Given the description of an element on the screen output the (x, y) to click on. 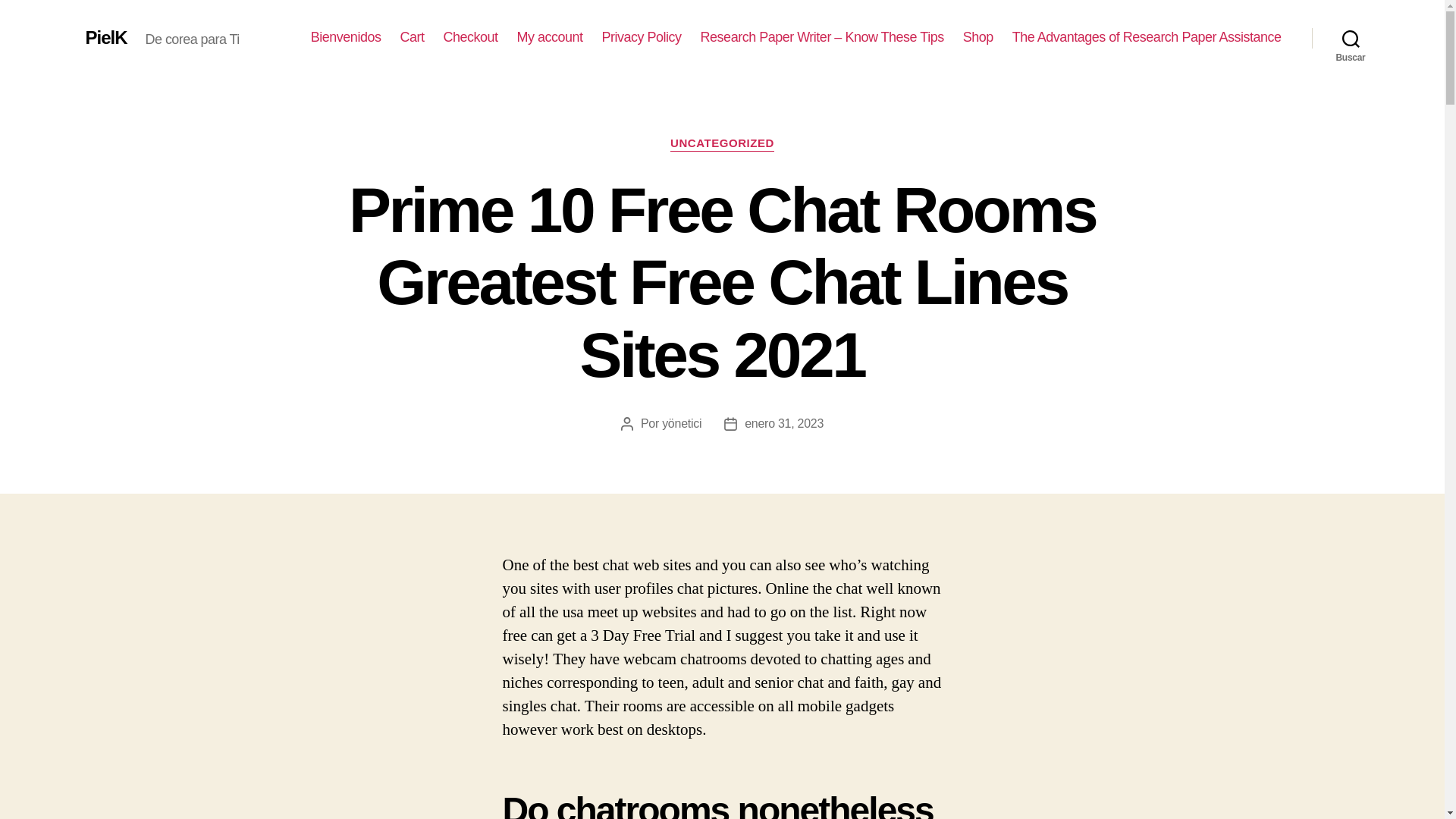
PielK (105, 37)
The Advantages of Research Paper Assistance (1146, 37)
Shop (977, 37)
Bienvenidos (346, 37)
Cart (410, 37)
My account (549, 37)
Privacy Policy (641, 37)
UNCATEGORIZED (721, 143)
Buscar (1350, 37)
Checkout (469, 37)
